Given the description of an element on the screen output the (x, y) to click on. 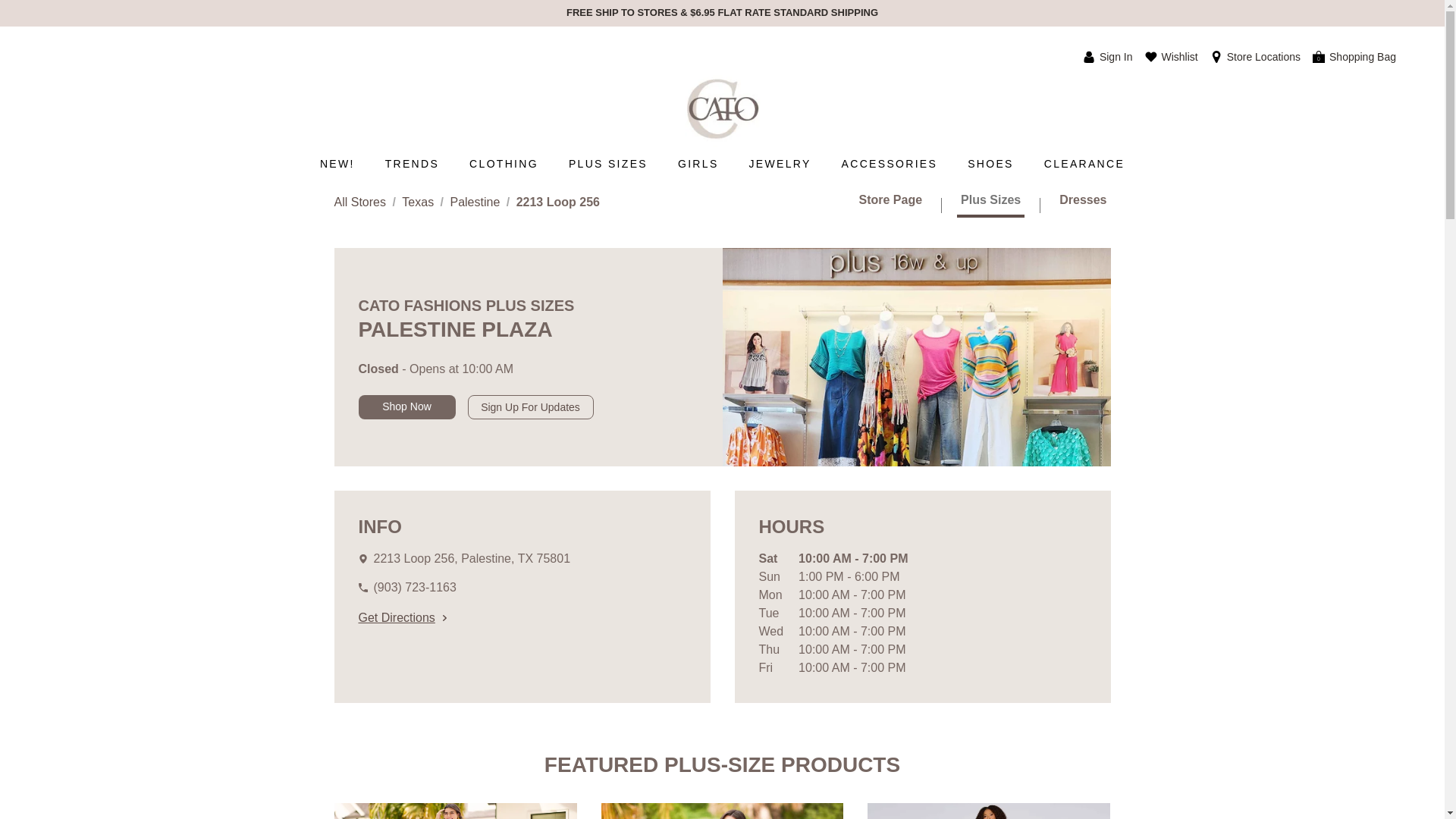
Shop New Products (336, 163)
TRENDS (411, 163)
Sign In (1107, 56)
NEW! (336, 163)
Shop Jewelry Products (780, 163)
Shop Trends Products (411, 163)
ACCESSORIES (890, 163)
Shop Girls Products (697, 163)
CLEARANCE (1084, 163)
Shop Accessories Products (890, 163)
JEWELRY (780, 163)
GIRLS (697, 163)
PLUS SIZES (607, 163)
Shop Clothing Products (503, 163)
Store Locations (1254, 56)
